Given the description of an element on the screen output the (x, y) to click on. 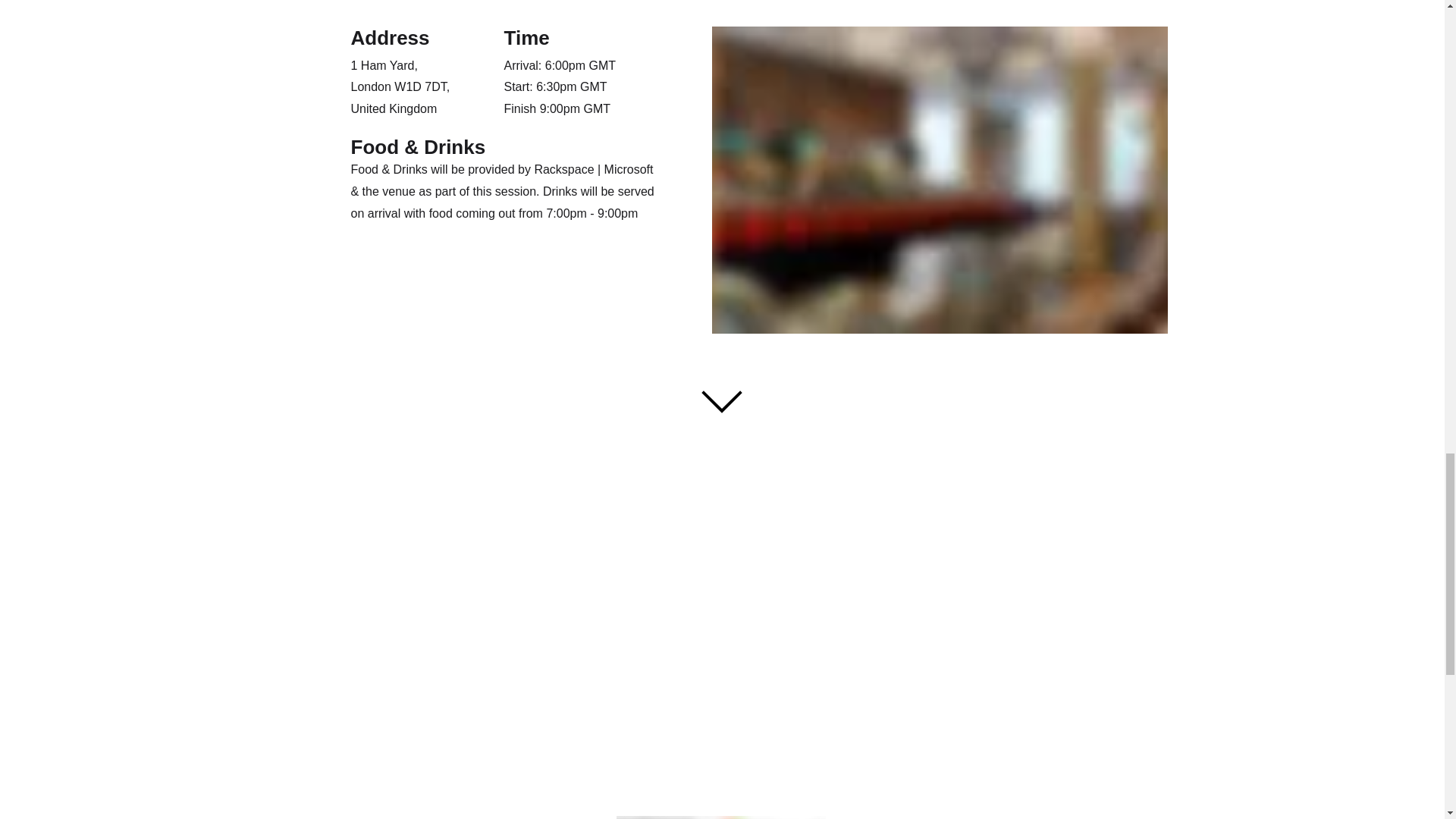
GMT (593, 86)
Arrival: 6:00pm GMT (559, 65)
GMT (596, 108)
